Given the description of an element on the screen output the (x, y) to click on. 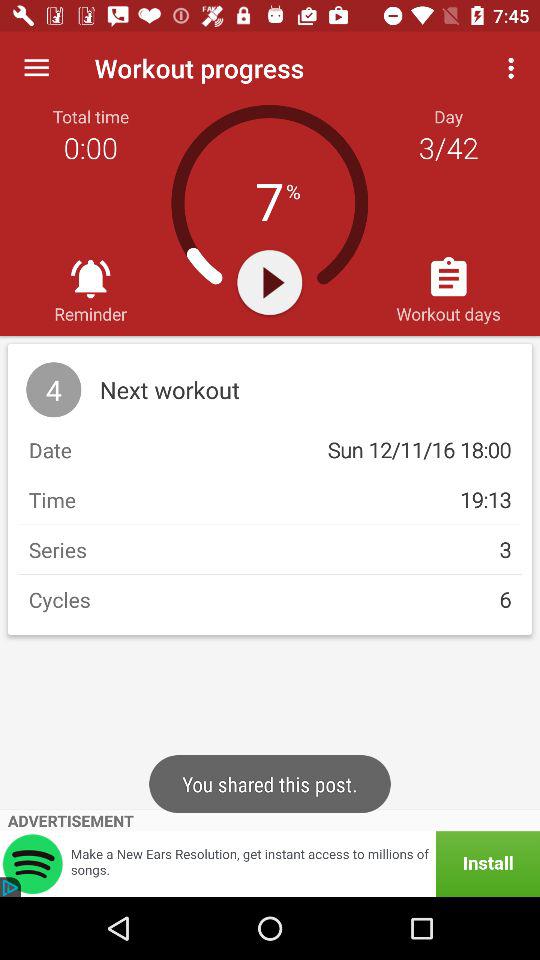
press item below the advertisement (270, 863)
